Given the description of an element on the screen output the (x, y) to click on. 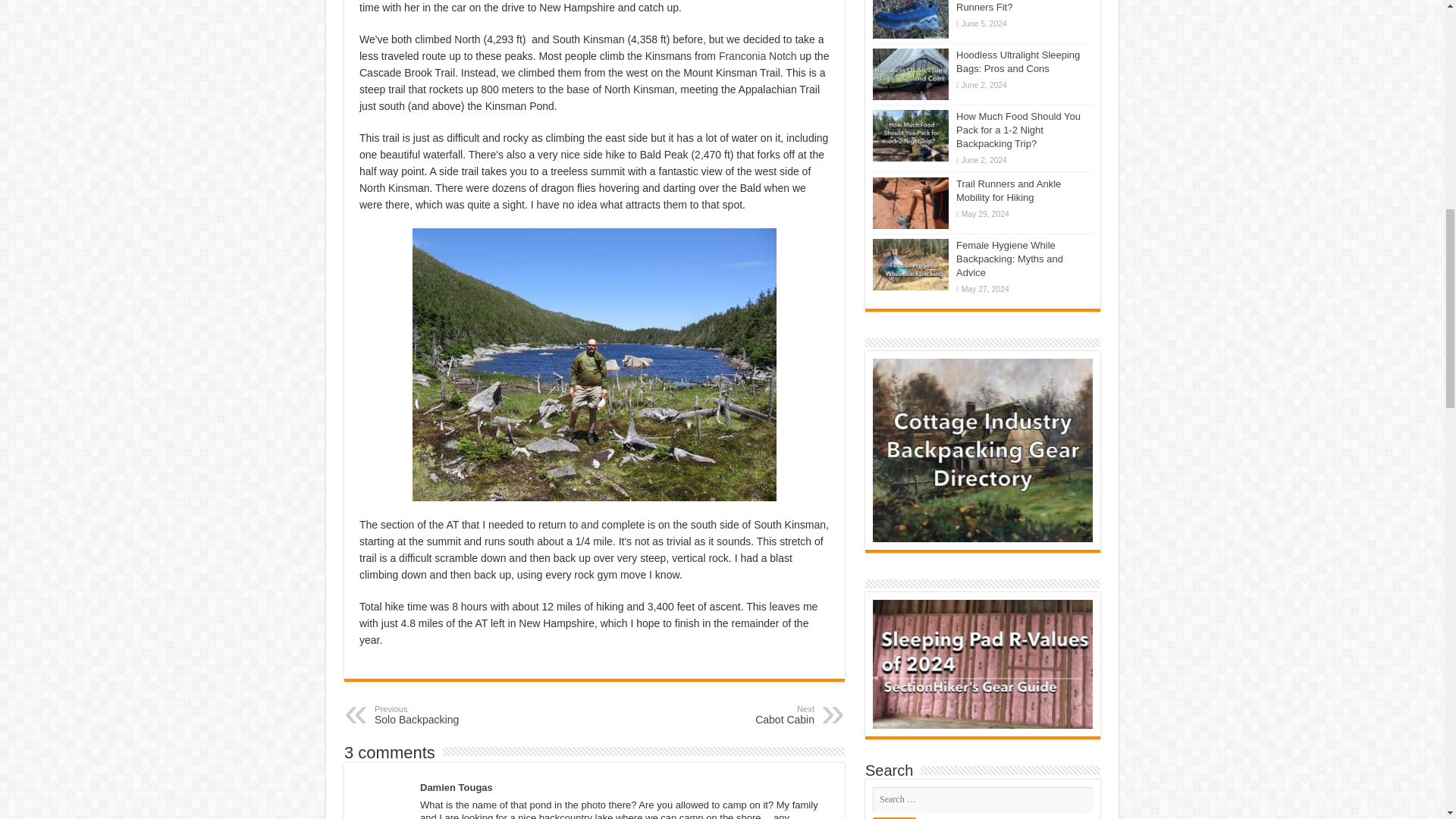
Search (893, 818)
Scroll To Top (1421, 60)
Search (893, 818)
Franconia Notch (451, 714)
Damien Tougas (757, 55)
